Given the description of an element on the screen output the (x, y) to click on. 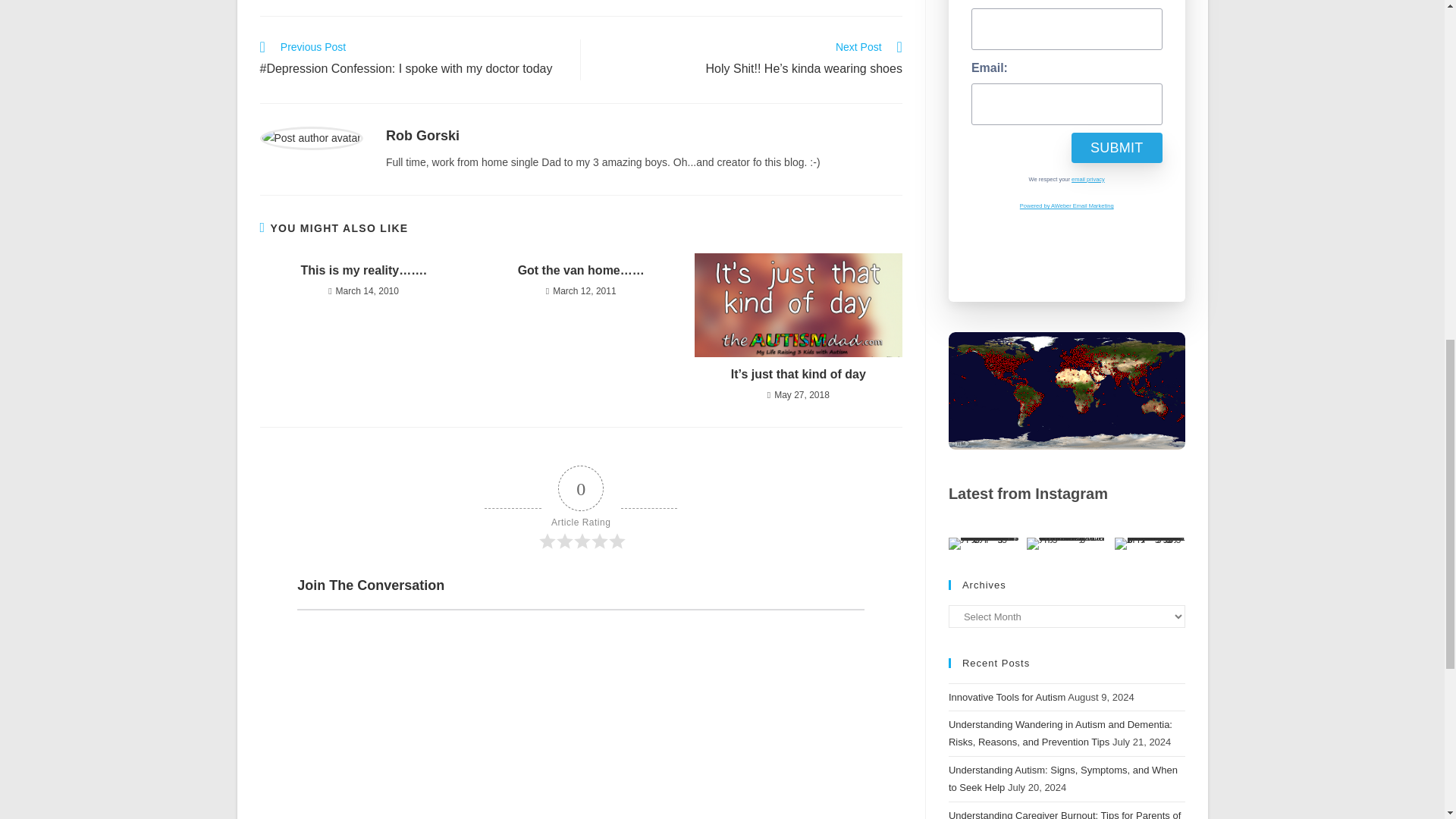
Visit author page (422, 135)
Privacy Policy (1088, 179)
Submit (1116, 147)
Visit author page (310, 137)
Comment Form (580, 714)
AWeber Email Marketing (1066, 205)
